Given the description of an element on the screen output the (x, y) to click on. 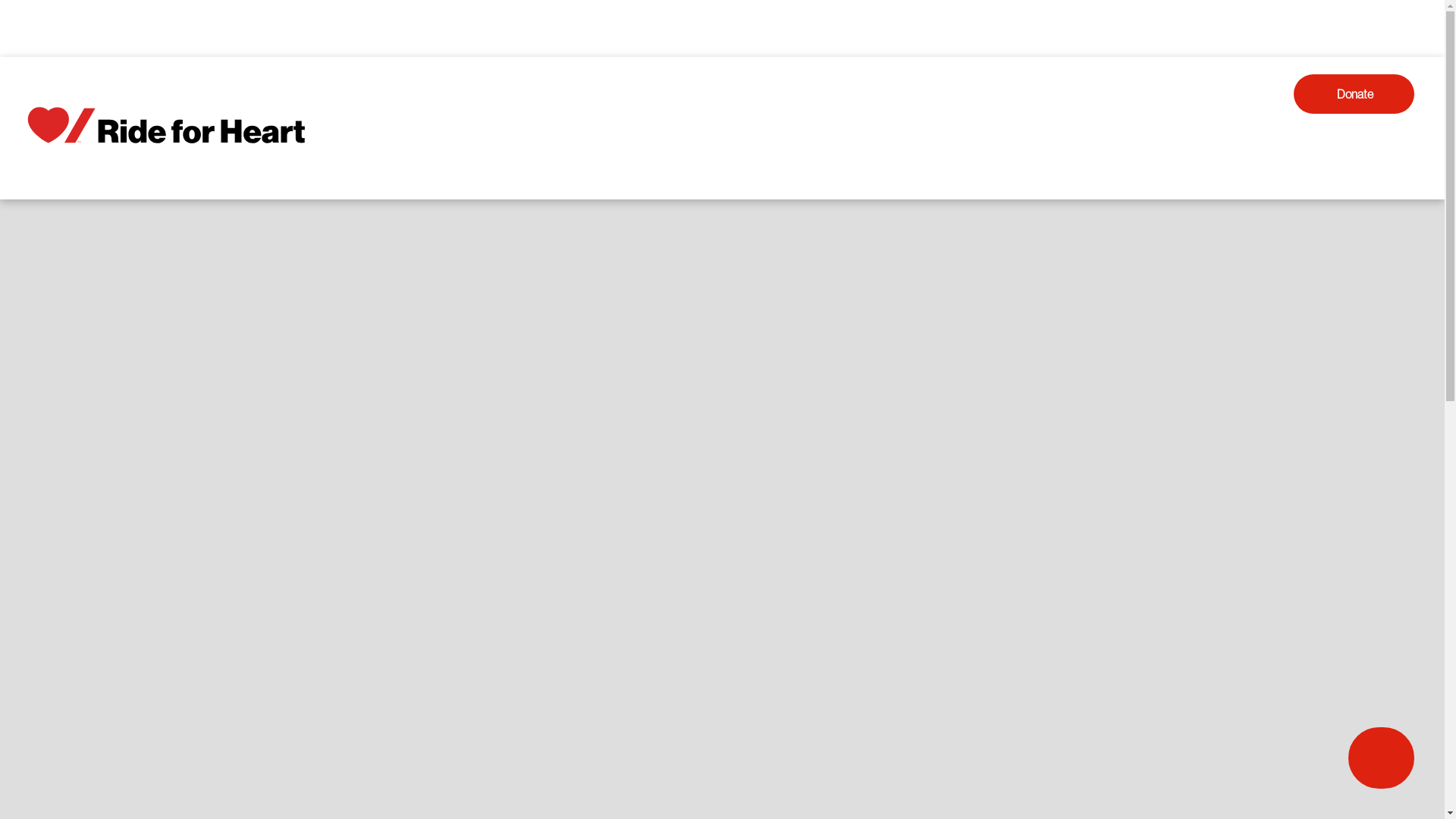
Donate Element type: text (1353, 93)
